Given the description of an element on the screen output the (x, y) to click on. 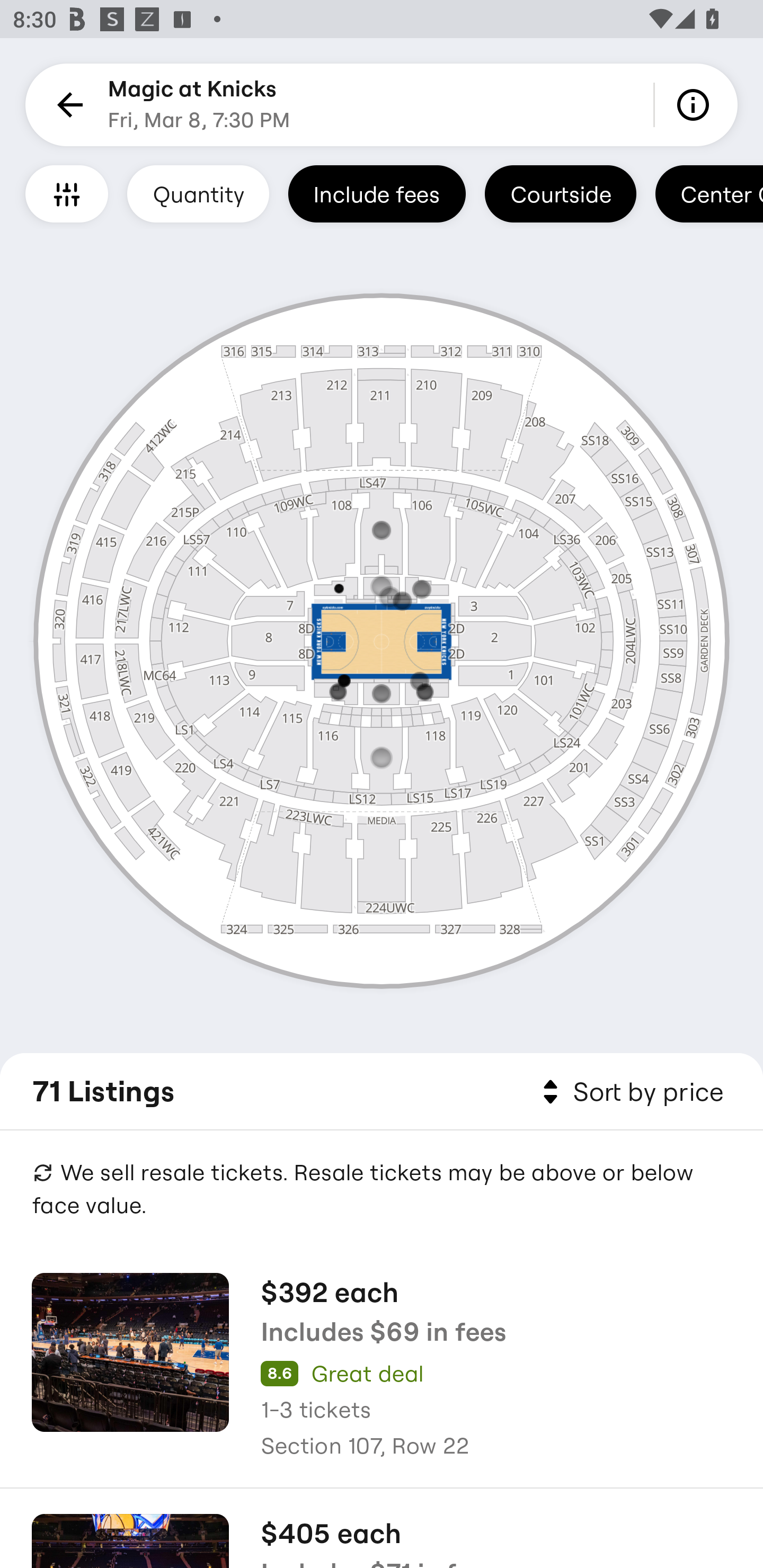
Back (66, 104)
Magic at Knicks Fri, Mar 8, 7:30 PM (198, 104)
Info (695, 104)
Filters and Accessible Seating (66, 193)
Quantity (198, 193)
Include fees (376, 193)
Courtside (560, 193)
Sort by price (629, 1091)
